Given the description of an element on the screen output the (x, y) to click on. 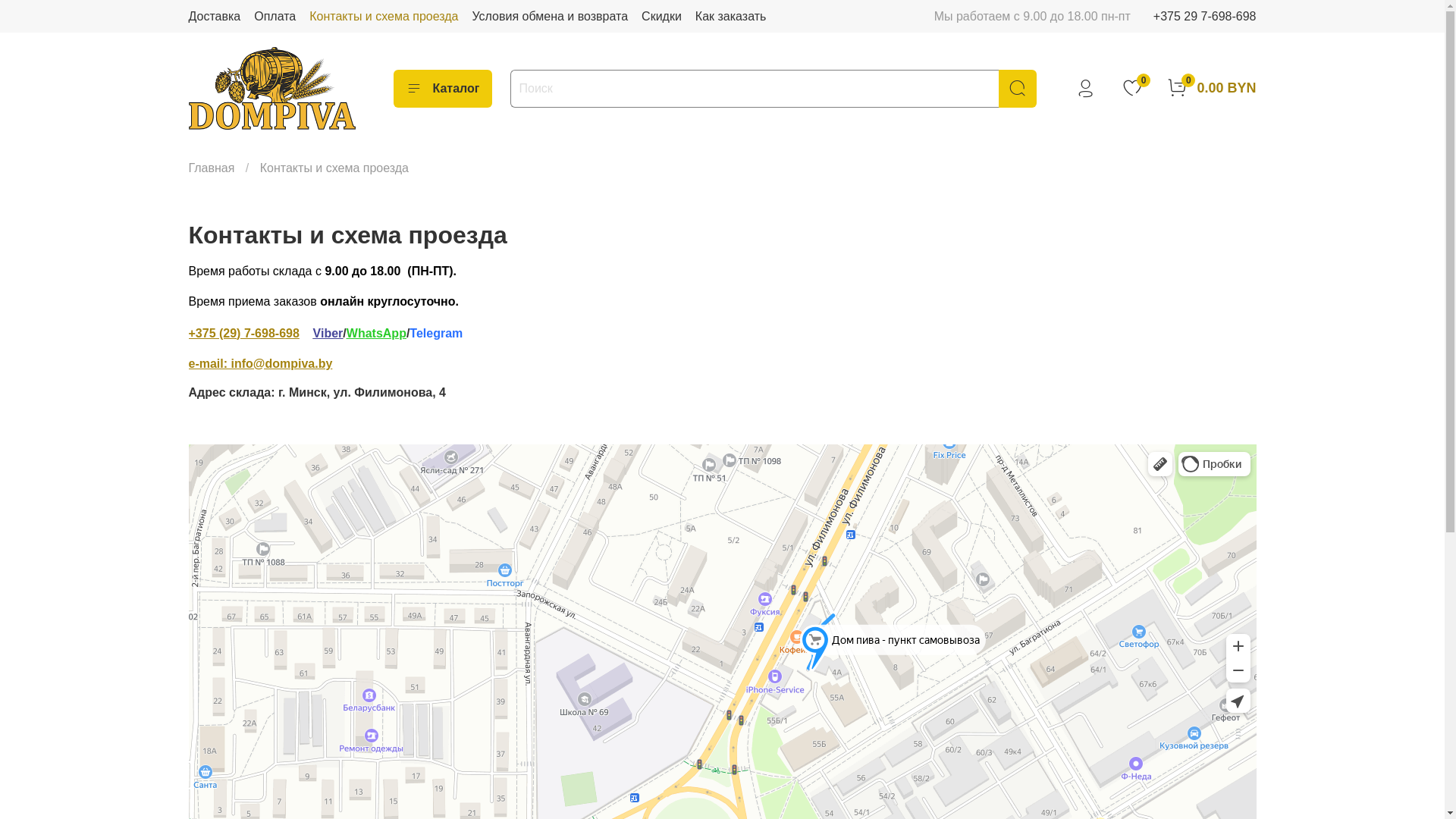
+375 29 7-698-698 Element type: text (1204, 15)
0
0.00 BYN Element type: text (1210, 87)
0 Element type: text (1132, 87)
+375 (29) 7-698-698 Element type: text (243, 332)
DomPiva.by Element type: hover (271, 88)
Viber Element type: text (328, 332)
e-mail: info@dompiva.by Element type: text (260, 363)
WhatsApp Element type: text (376, 332)
